Given the description of an element on the screen output the (x, y) to click on. 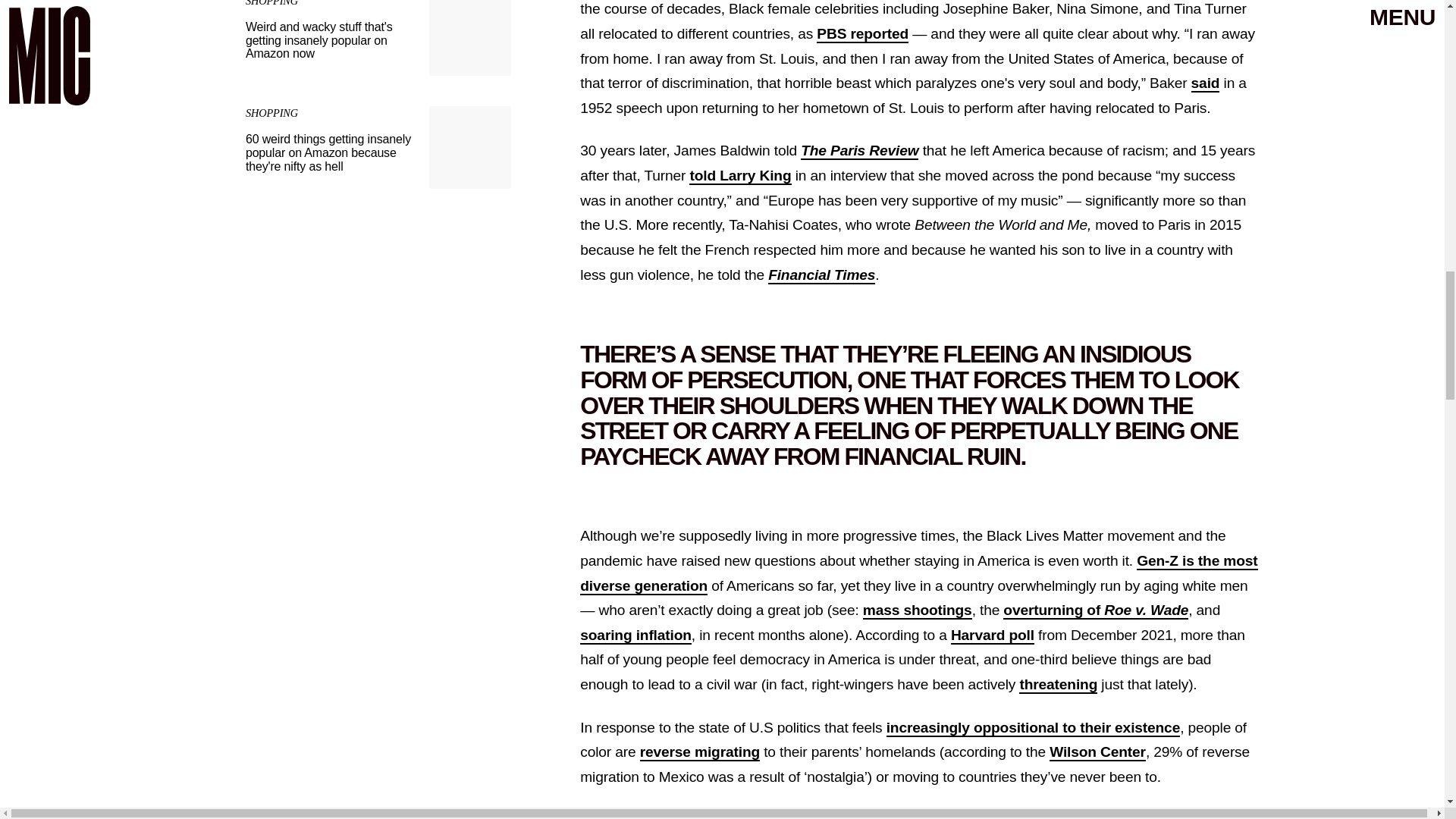
overturning of (1053, 610)
threatening (1058, 684)
soaring inflation (635, 635)
increasingly oppositional (972, 728)
said (1205, 83)
told Larry King (739, 176)
Wilson Center (1097, 752)
Roe v. Wade (1145, 610)
mass shootings (917, 610)
Financial Times (821, 275)
The Paris Review (859, 150)
PBS reported (862, 34)
to their existence (1118, 728)
reverse migrating (700, 752)
